Given the description of an element on the screen output the (x, y) to click on. 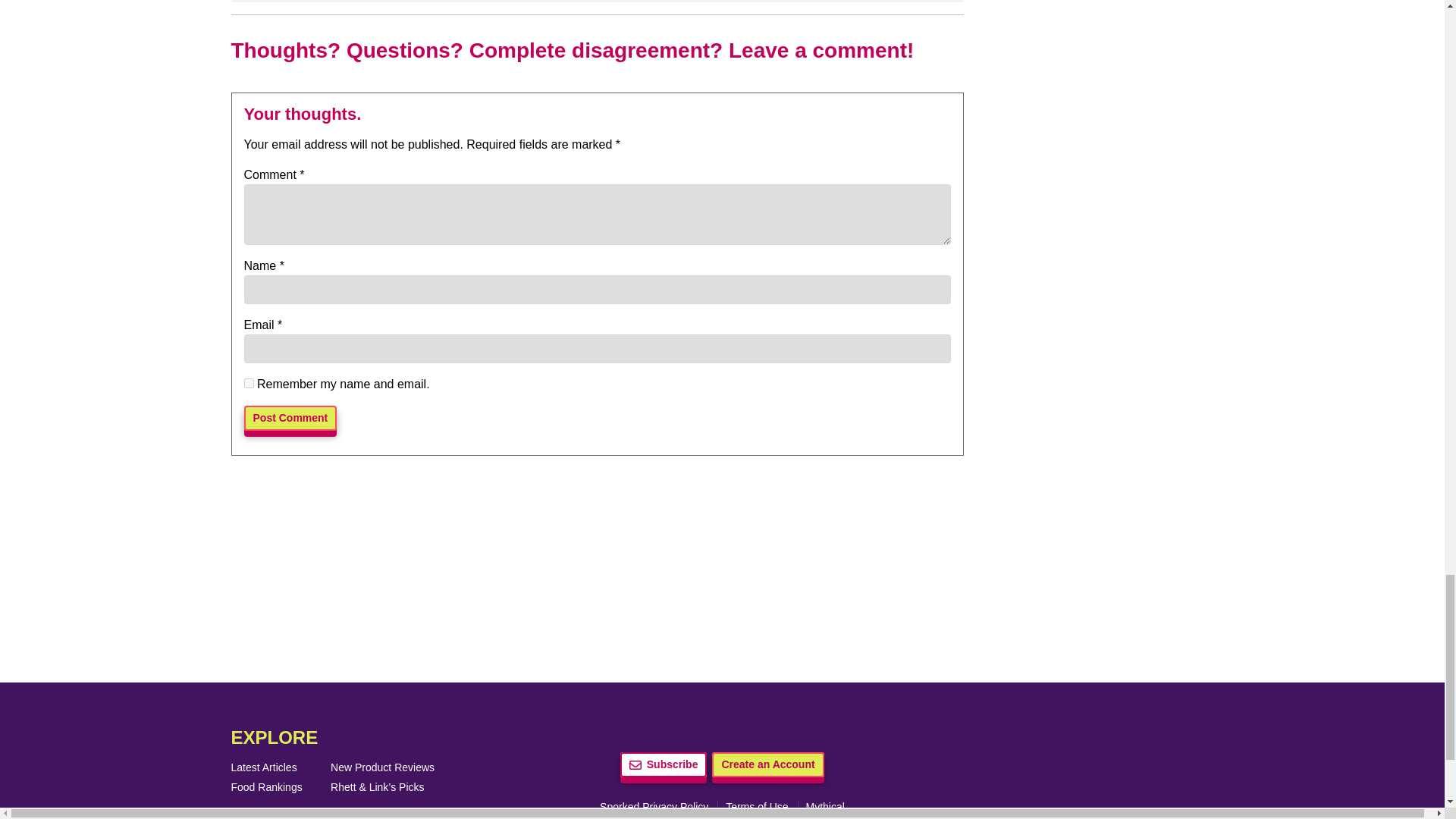
yes (248, 383)
Post Comment (290, 417)
